Given the description of an element on the screen output the (x, y) to click on. 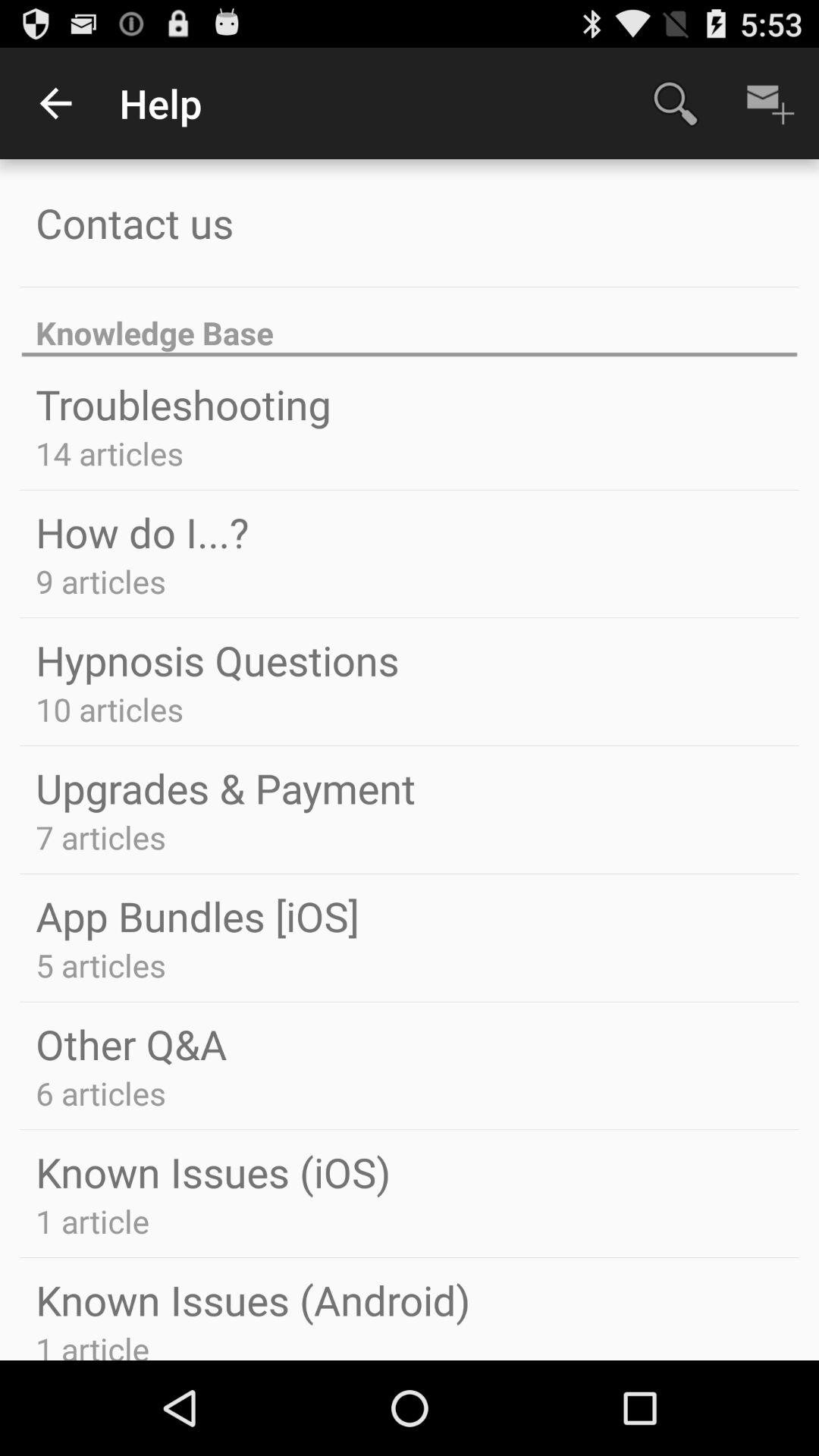
turn off app below the app bundles [ios] (100, 964)
